Given the description of an element on the screen output the (x, y) to click on. 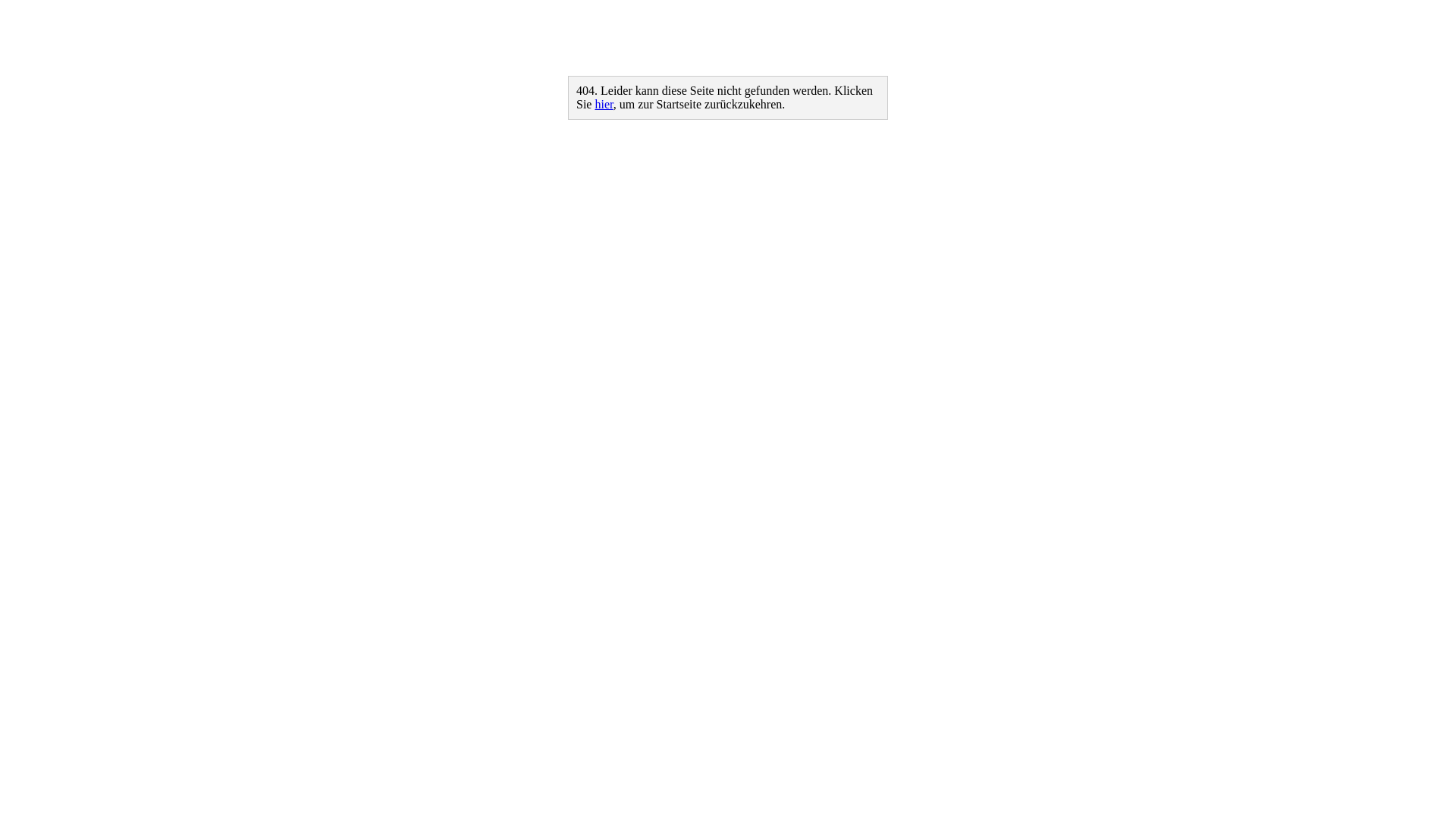
hier Element type: text (603, 103)
